Given the description of an element on the screen output the (x, y) to click on. 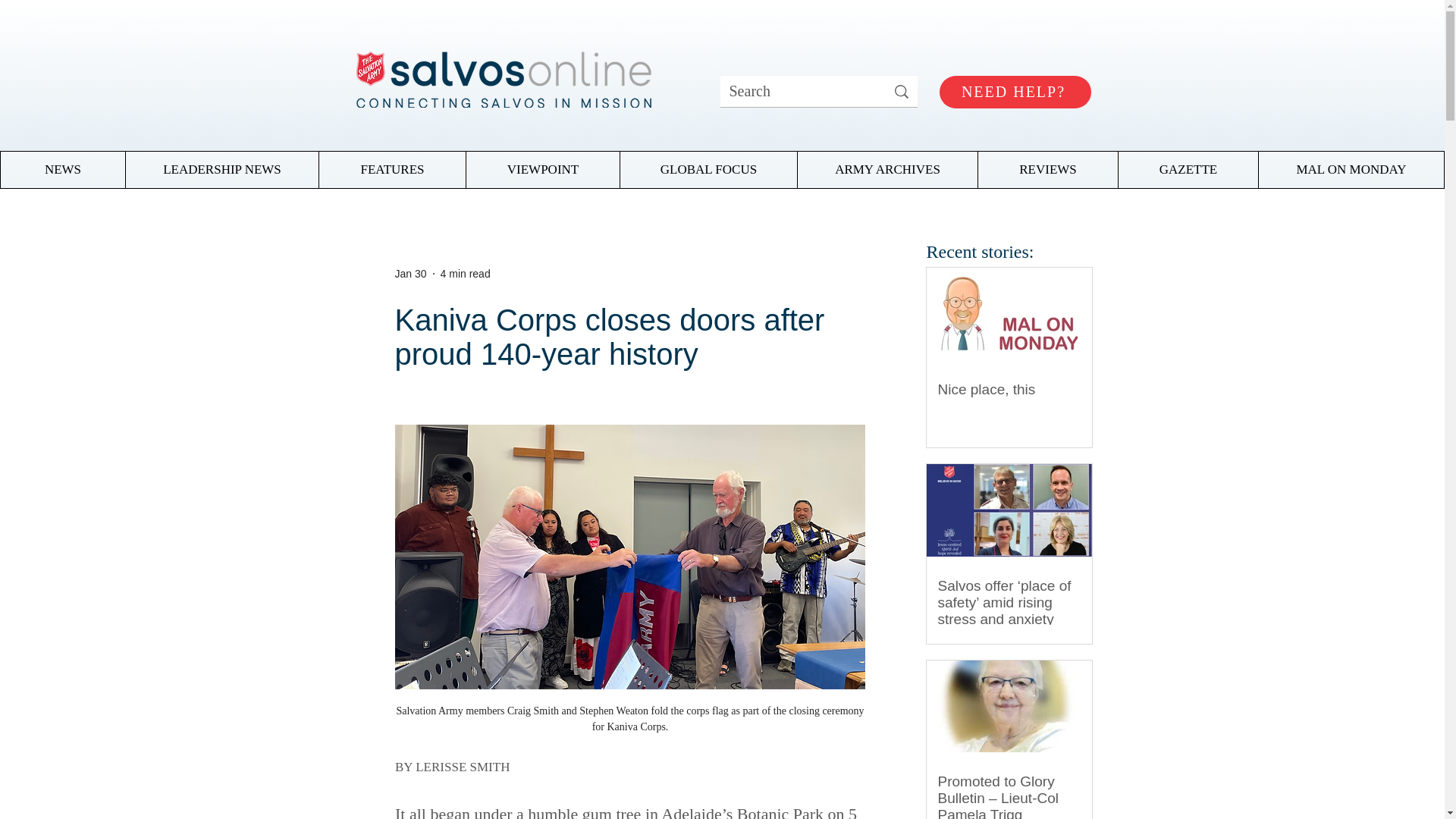
NEED HELP? (1014, 92)
NEWS (63, 169)
LEADERSHIP NEWS (221, 169)
REVIEWS (1047, 169)
4 min read (465, 272)
ARMY ARCHIVES (886, 169)
Salvos Online with slogan.png (501, 74)
GAZETTE (1187, 169)
Nice place, this (1008, 389)
FEATURES (391, 169)
